Given the description of an element on the screen output the (x, y) to click on. 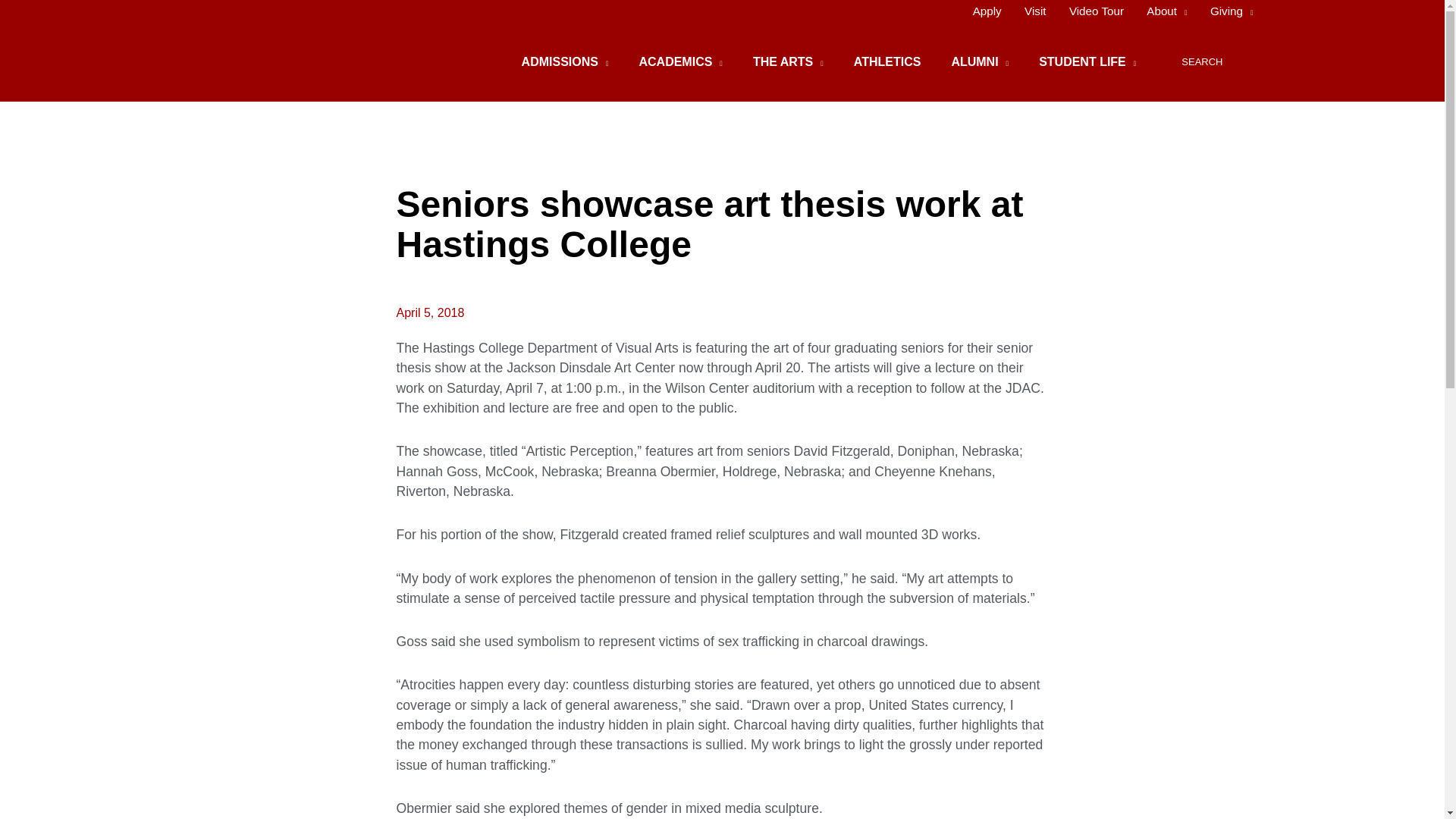
Visit (1035, 11)
Giving (1225, 11)
Apply (986, 11)
ADMISSIONS (565, 61)
Video Tour (1096, 11)
About (1166, 11)
